Given the description of an element on the screen output the (x, y) to click on. 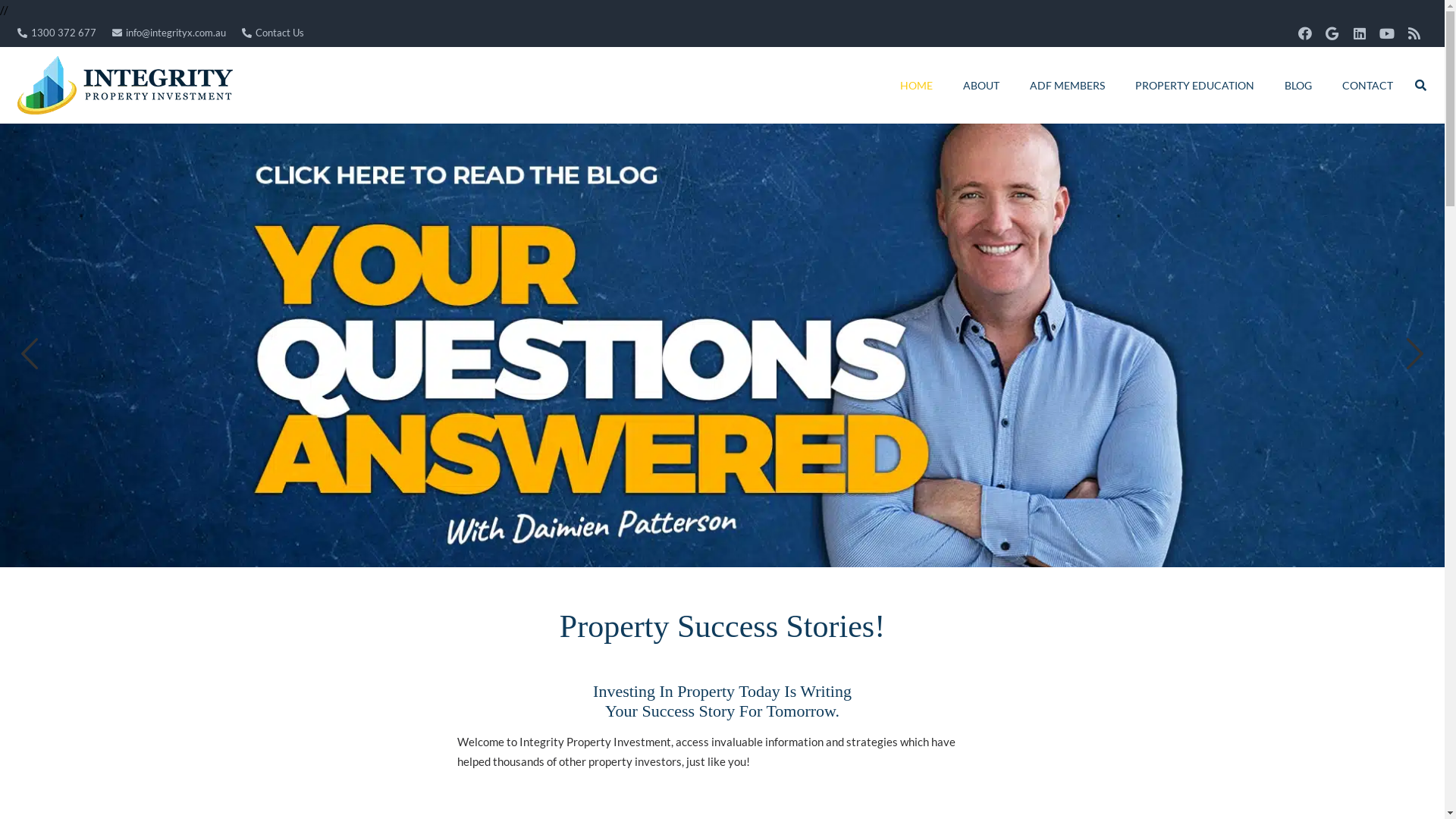
Google Element type: hover (1331, 33)
Contact Us Element type: text (272, 32)
PROPERTY EDUCATION Element type: text (1194, 85)
YouTube Element type: hover (1385, 33)
RSS Element type: hover (1413, 33)
HOME Element type: text (915, 85)
ABOUT Element type: text (980, 85)
BLOG Element type: text (1298, 85)
LinkedIn Element type: hover (1358, 33)
CONTACT Element type: text (1367, 85)
ADF MEMBERS Element type: text (1067, 85)
info@integrityx.com.au Element type: text (168, 32)
Facebook Element type: hover (1303, 33)
